Given the description of an element on the screen output the (x, y) to click on. 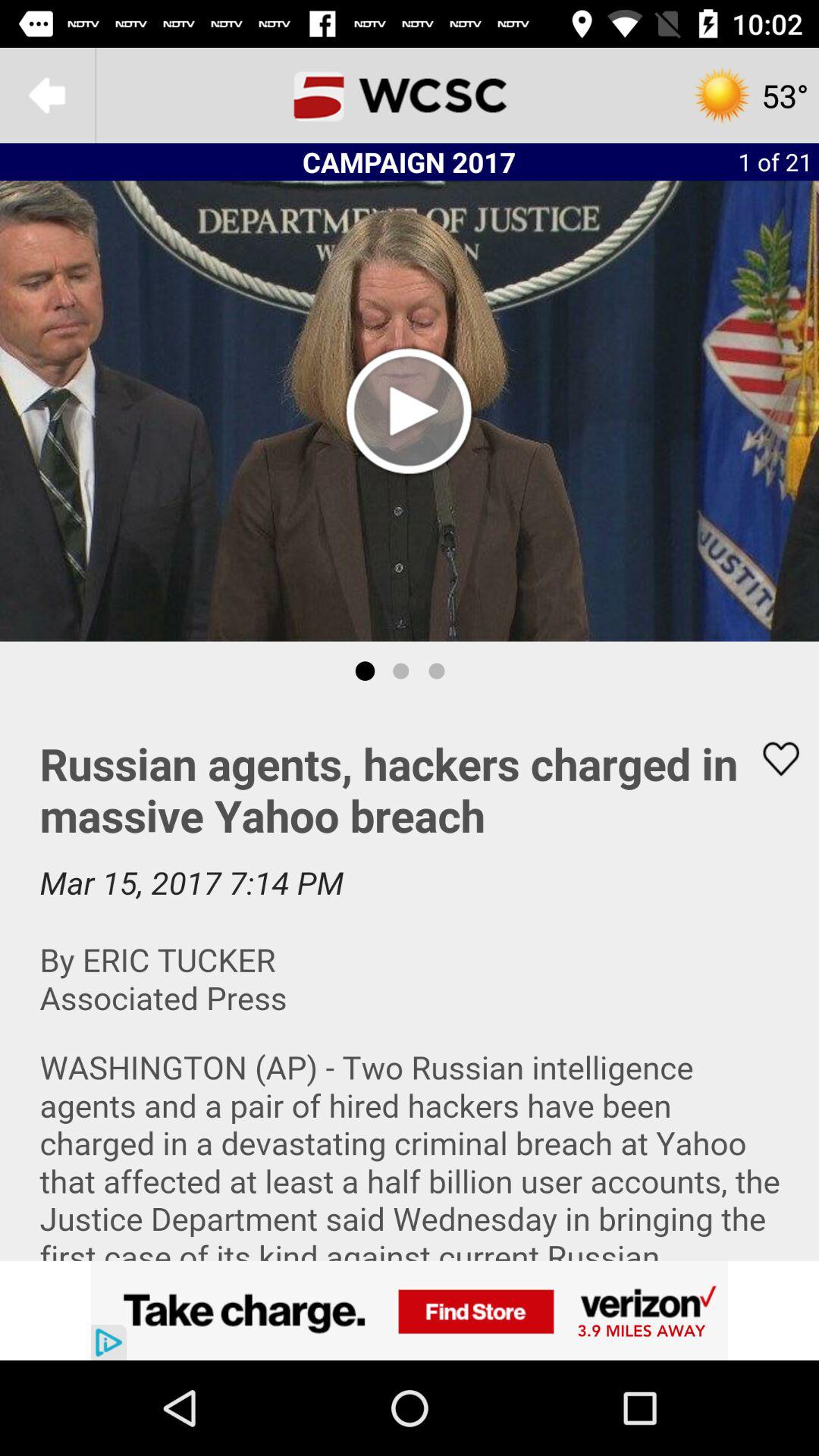
open advertisements (409, 1310)
